Given the description of an element on the screen output the (x, y) to click on. 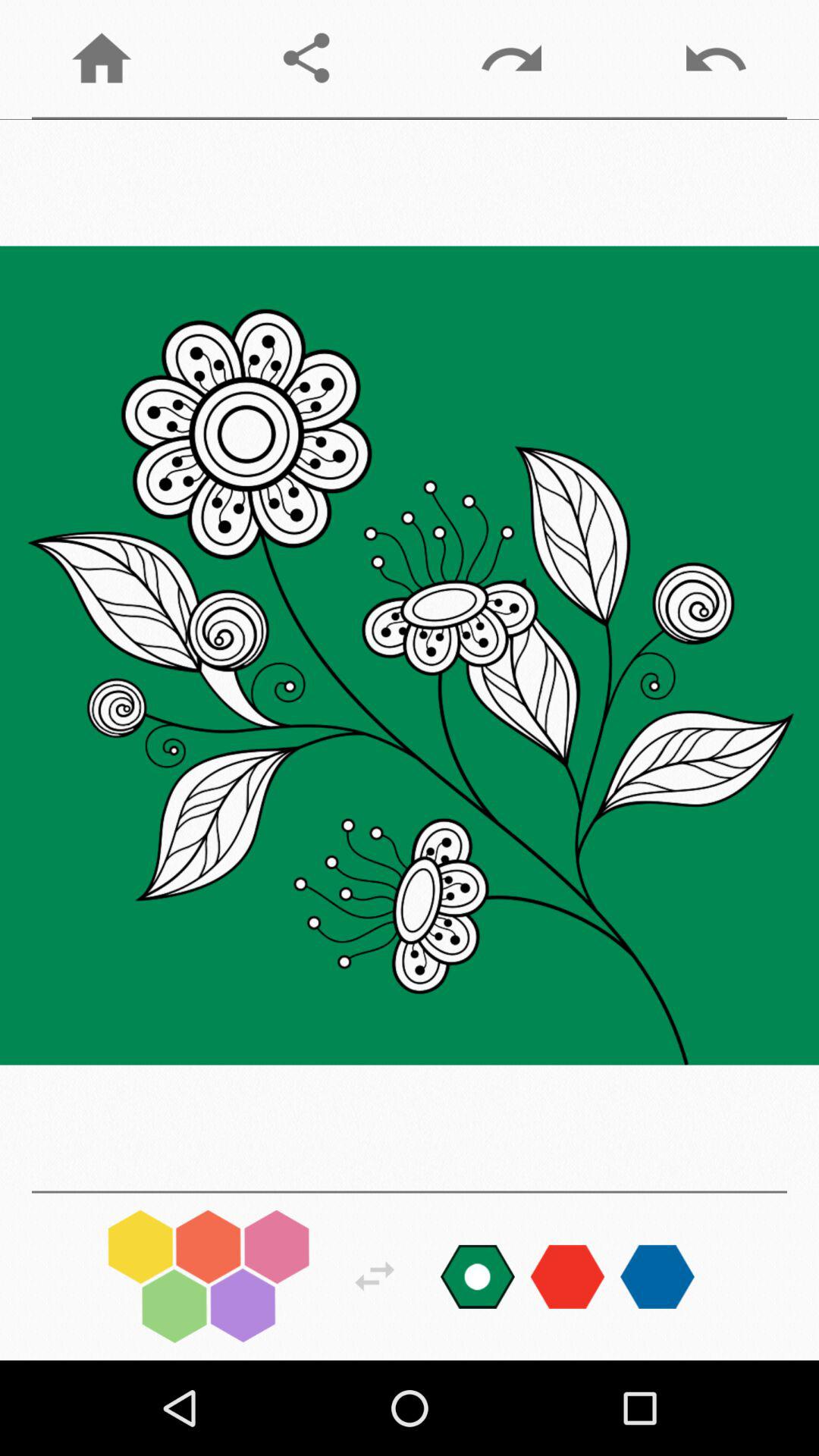
select colour (477, 1276)
